Given the description of an element on the screen output the (x, y) to click on. 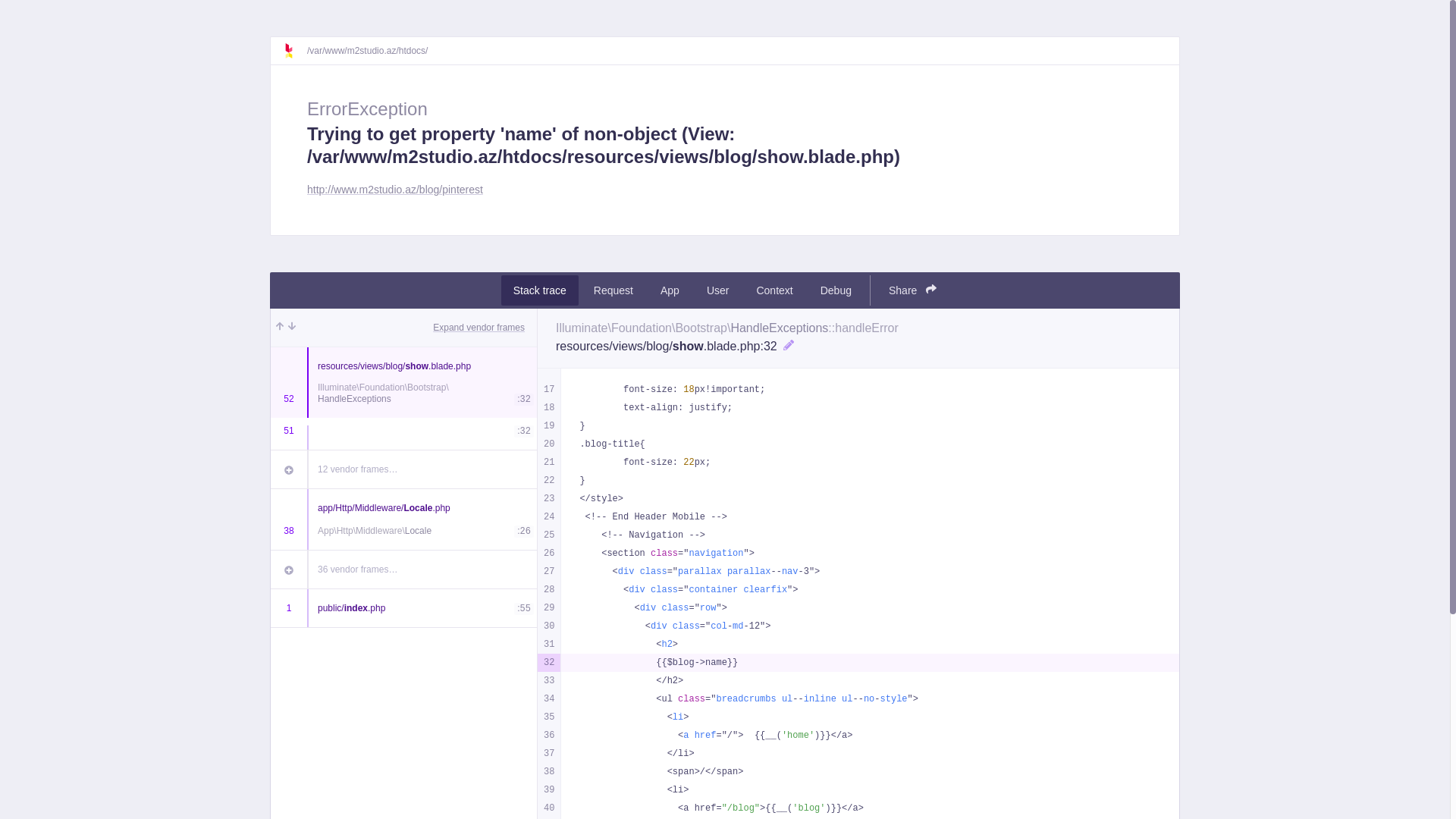
App Element type: text (669, 290)
Debug Element type: text (835, 290)
User Element type: text (717, 290)
Frame down (Key:J) Element type: hover (291, 327)
Ignition docs Element type: hover (294, 50)
Stack trace Element type: text (539, 290)
Request Element type: text (613, 290)
Frame up (Key:K) Element type: hover (279, 327)
Context Element type: text (773, 290)
Expand vendor frames Element type: text (478, 327)
Share Element type: text (912, 290)
http://www.m2studio.az/blog/pinterest Element type: text (395, 190)
